Given the description of an element on the screen output the (x, y) to click on. 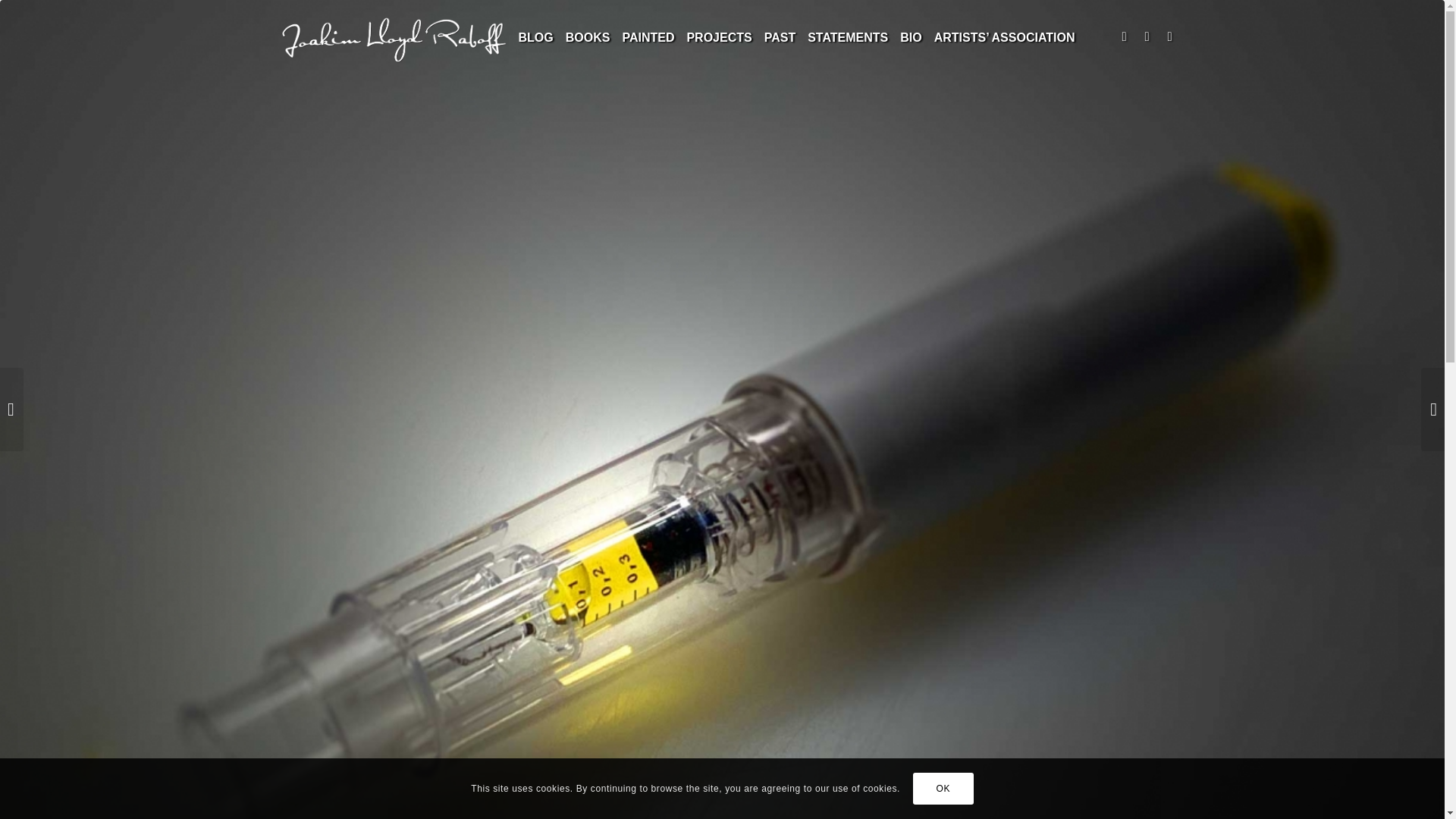
PROJECTS (718, 38)
STATEMENTS (847, 38)
Facebook (1146, 36)
Instagram (1169, 36)
Mail (1124, 36)
